Given the description of an element on the screen output the (x, y) to click on. 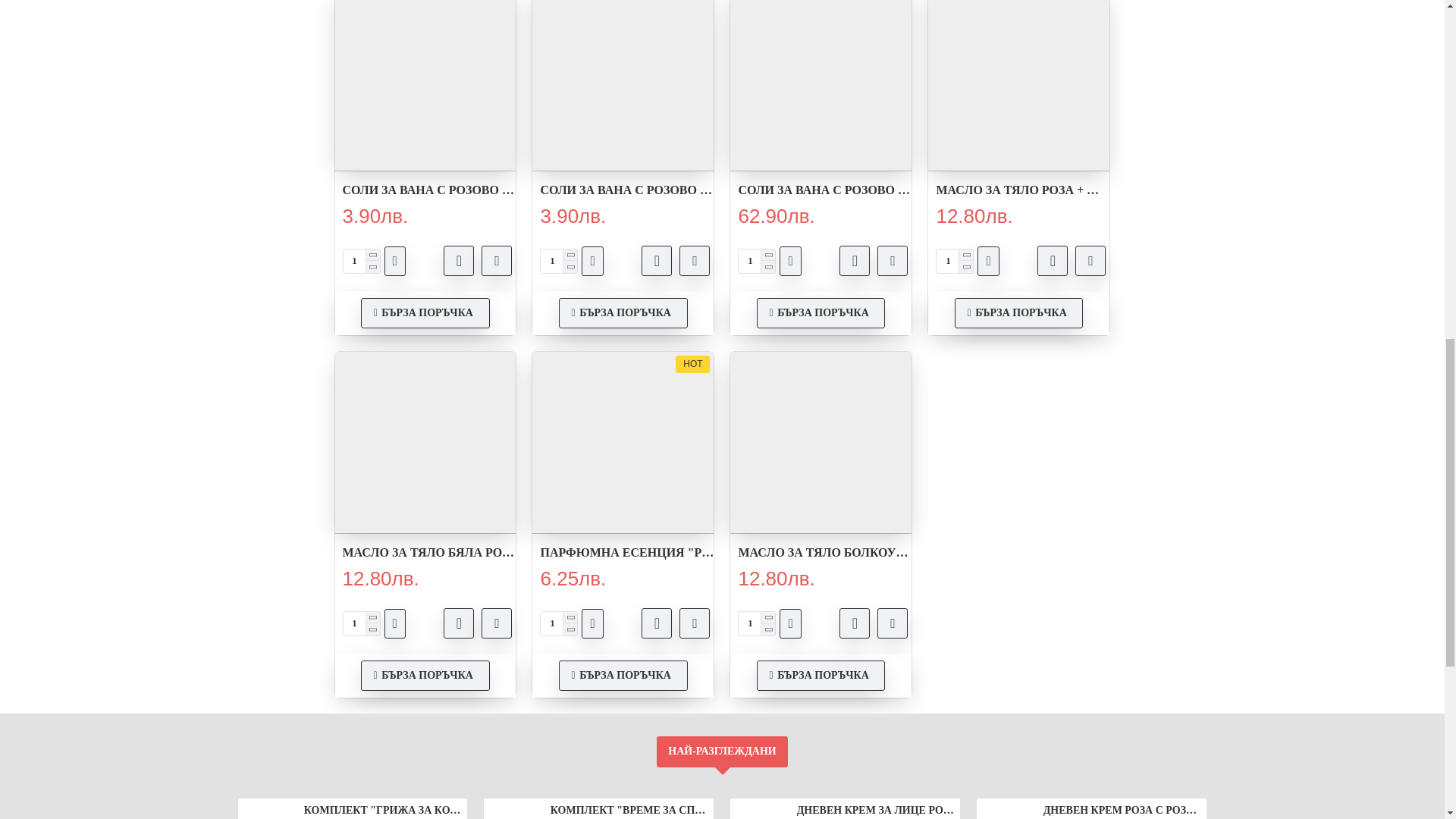
1 (360, 623)
1 (756, 623)
1 (954, 260)
1 (756, 260)
1 (360, 260)
1 (558, 260)
1 (558, 623)
